Given the description of an element on the screen output the (x, y) to click on. 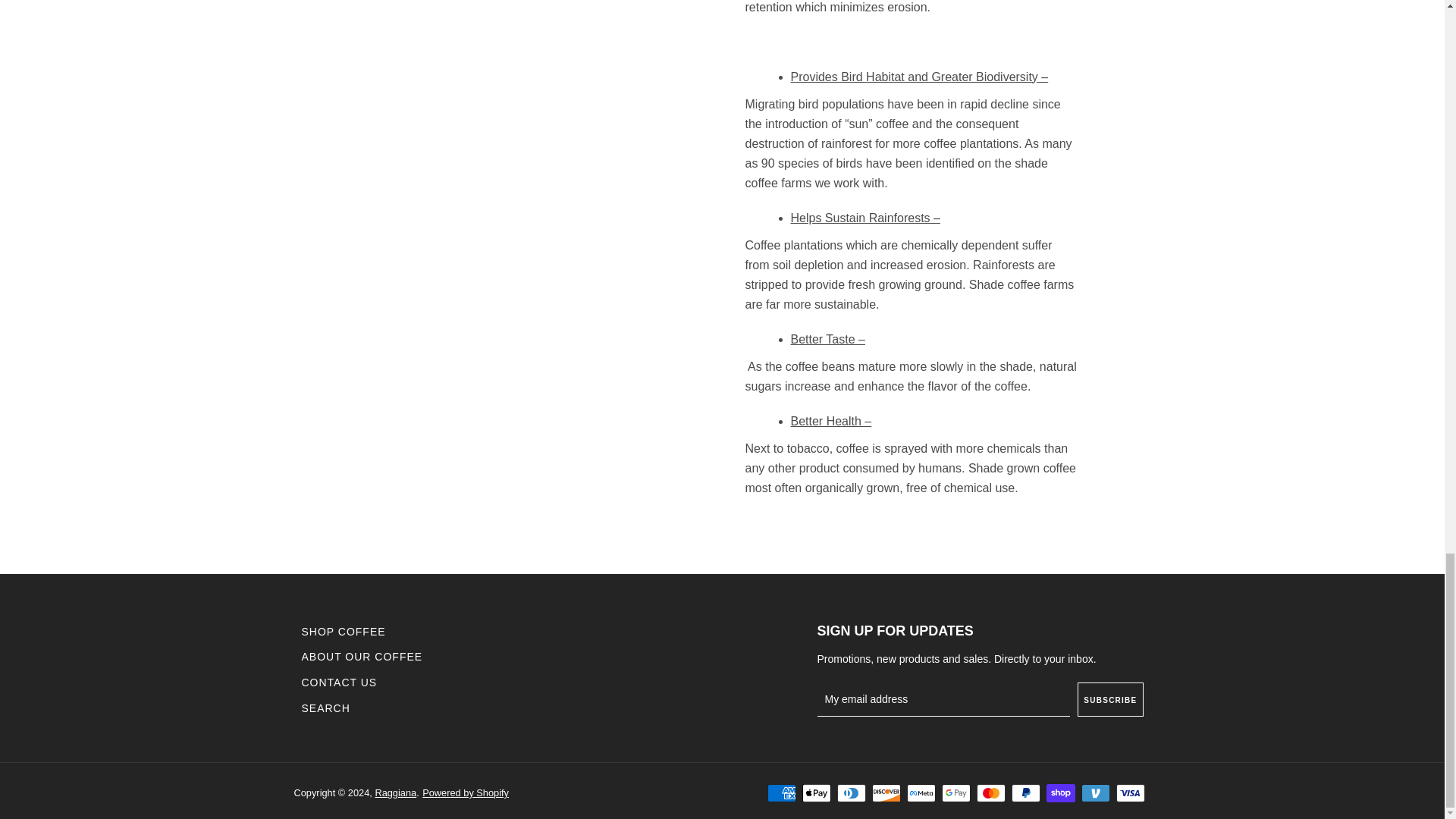
Meta Pay (921, 792)
Discover (886, 792)
PayPal (1026, 792)
Shop Pay (1060, 792)
Venmo (1095, 792)
ABOUT OUR COFFEE (362, 656)
CONTACT US (339, 682)
Visa (1130, 792)
Apple Pay (816, 792)
SUBSCRIBE (1109, 699)
